Given the description of an element on the screen output the (x, y) to click on. 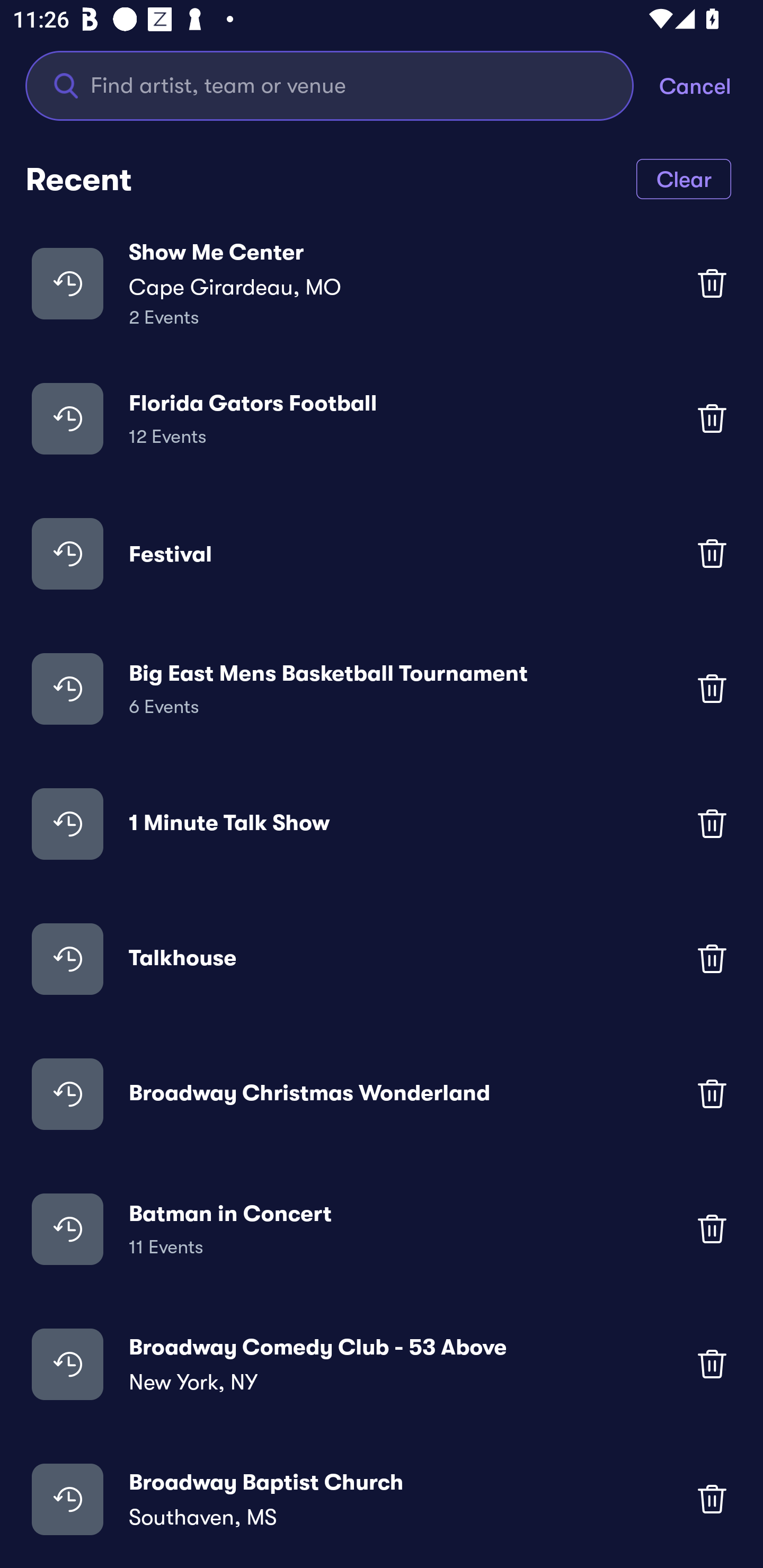
Cancel (711, 85)
Find artist, team or venue Find (329, 85)
Find artist, team or venue Find (341, 85)
Clear (683, 178)
Show Me Center Cape Girardeau, MO 2 Events (381, 282)
Florida Gators Football 12 Events (381, 417)
Festival (381, 553)
Big East Mens Basketball Tournament 6 Events (381, 688)
1 Minute Talk Show (381, 823)
Talkhouse (381, 958)
Broadway Christmas Wonderland (381, 1093)
Batman in Concert 11 Events (381, 1228)
Broadway Comedy Club - 53 Above New York, NY (381, 1364)
Broadway Baptist Church Southaven, MS (381, 1498)
